Given the description of an element on the screen output the (x, y) to click on. 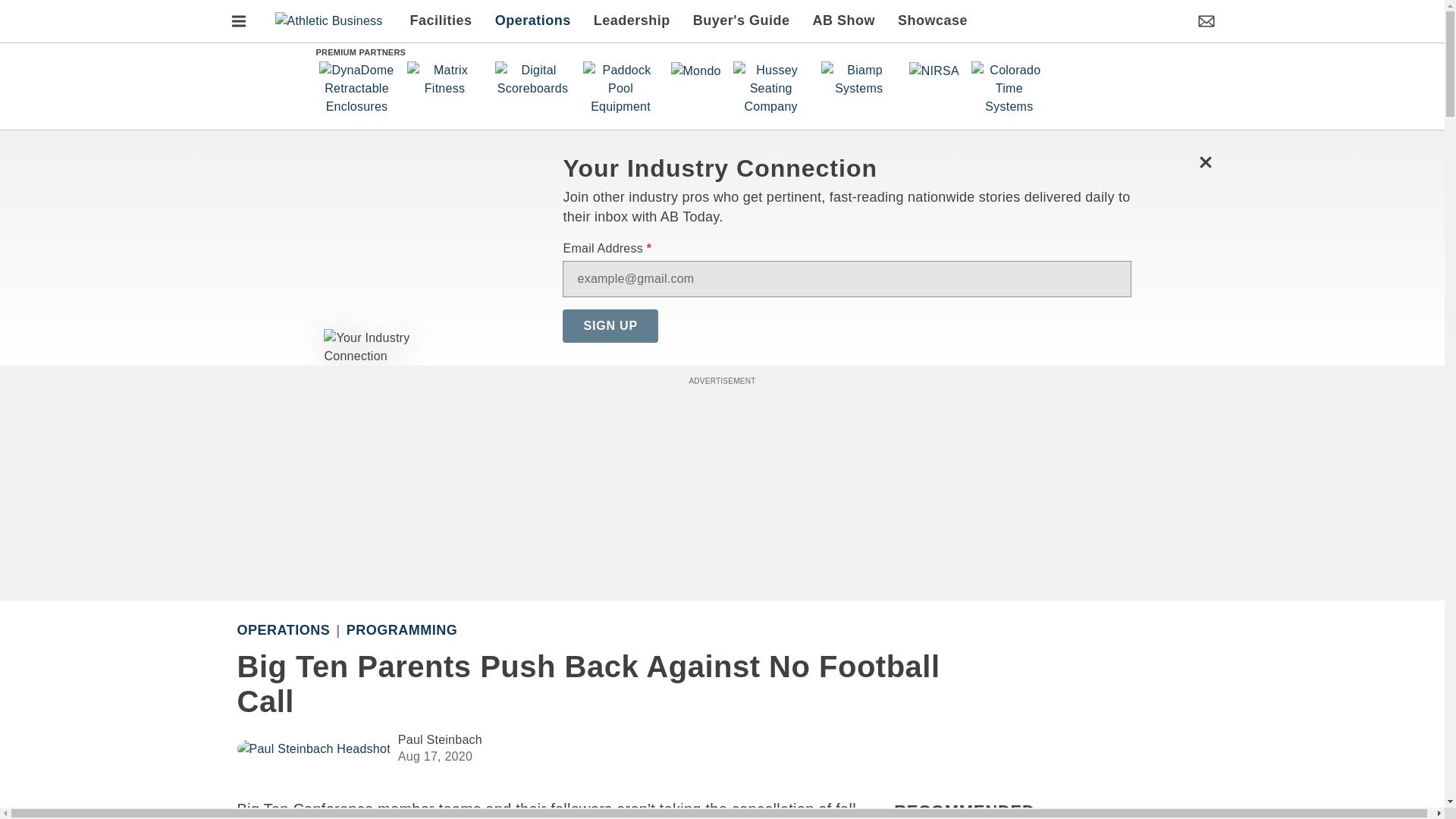
Matrix Fitness (443, 79)
DynaDome Retractable Enclosures (356, 88)
Biamp Systems (858, 79)
NIRSA (933, 70)
Operations (282, 630)
Facilities (446, 21)
Operations (532, 21)
Buyer's Guide (741, 21)
Leadership (631, 21)
Paddock Pool Equipment (620, 88)
Colorado Time Systems (1008, 88)
Hussey Seating Company (771, 88)
AB Show (844, 21)
Showcase (927, 21)
Mondo (694, 70)
